Given the description of an element on the screen output the (x, y) to click on. 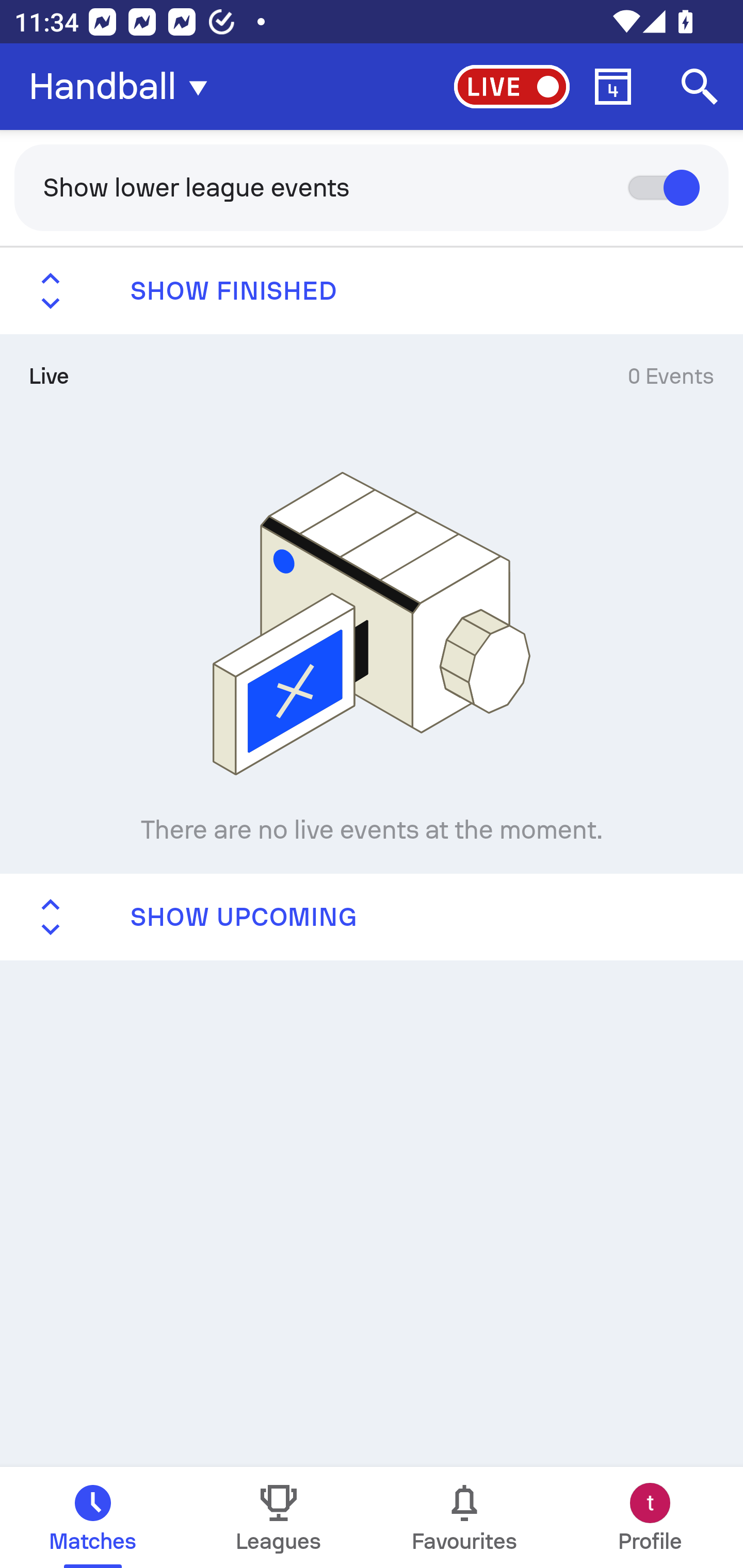
Handball (124, 86)
Calendar (612, 86)
Search (699, 86)
Show lower league events (371, 187)
SHOW FINISHED (371, 290)
SHOW UPCOMING (371, 916)
Leagues (278, 1517)
Favourites (464, 1517)
Profile (650, 1517)
